Given the description of an element on the screen output the (x, y) to click on. 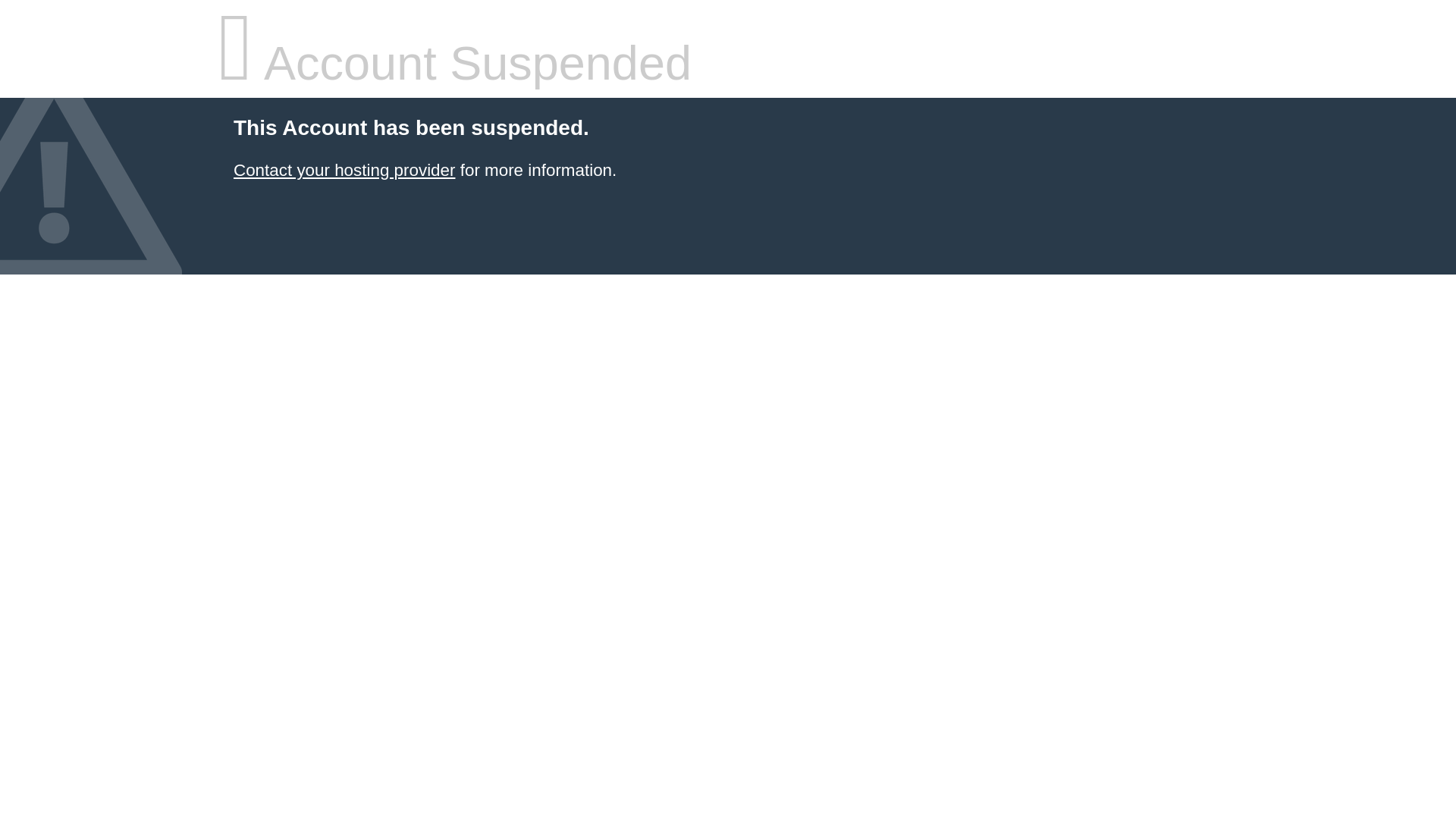
Contact your hosting provider (343, 169)
